Given the description of an element on the screen output the (x, y) to click on. 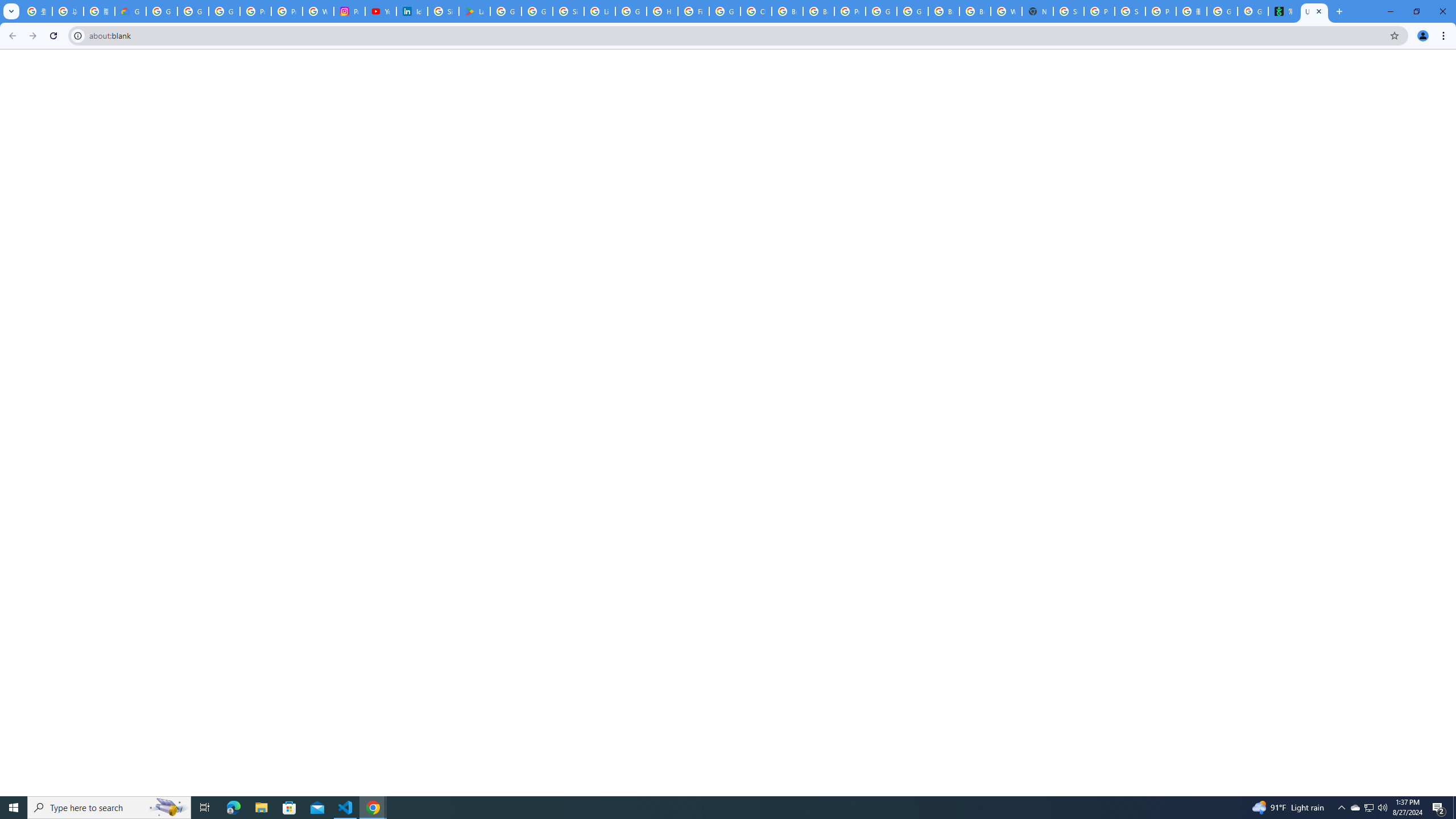
Privacy Help Center - Policies Help (286, 11)
Google Cloud Platform (881, 11)
Google Cloud Platform (912, 11)
Untitled (1314, 11)
